Given the description of an element on the screen output the (x, y) to click on. 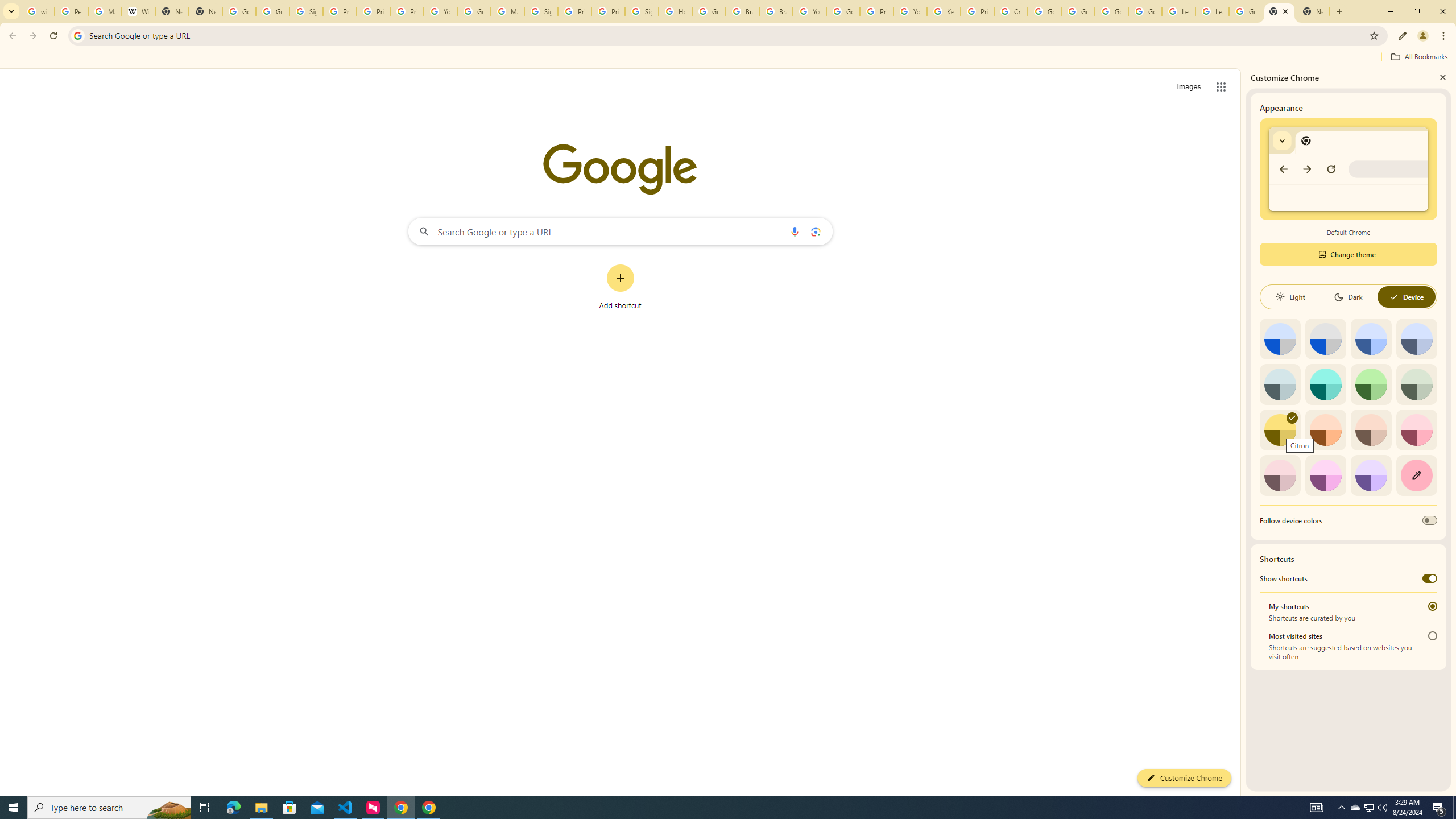
Sign in - Google Accounts (305, 11)
Manage your Location History - Google Search Help (104, 11)
YouTube (809, 11)
Most visited sites (1432, 635)
Change theme (1348, 254)
Side Panel Resize Handle (1242, 431)
